Given the description of an element on the screen output the (x, y) to click on. 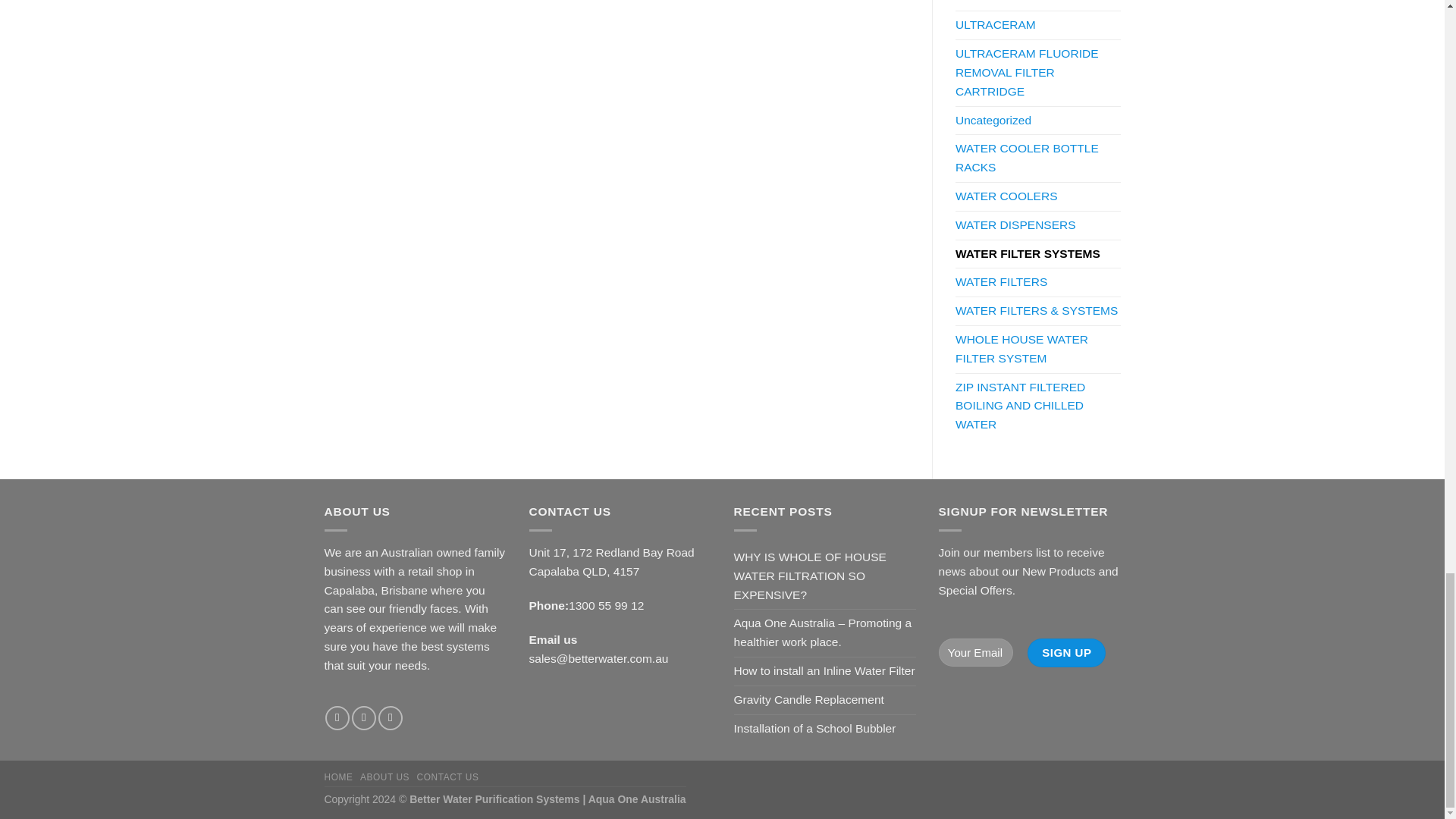
Follow on LinkedIn (390, 717)
Send us an email (363, 717)
Sign Up (1066, 652)
Follow on Facebook (336, 717)
